Given the description of an element on the screen output the (x, y) to click on. 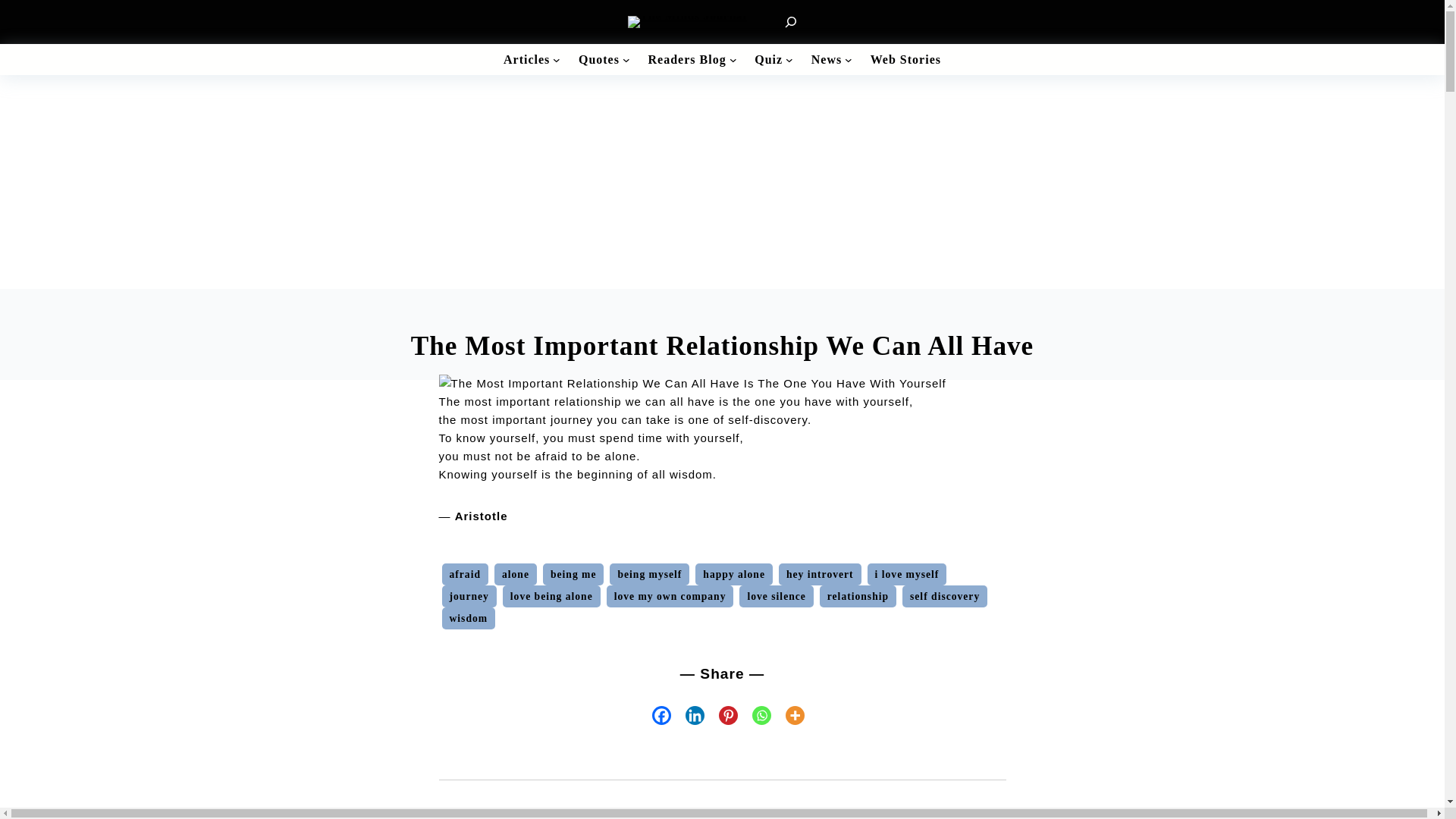
Whatsapp (754, 714)
More (788, 714)
The Most Important Relationship We Can All Have (691, 383)
Facebook (654, 714)
Pinterest (721, 714)
Linkedin (687, 714)
